Given the description of an element on the screen output the (x, y) to click on. 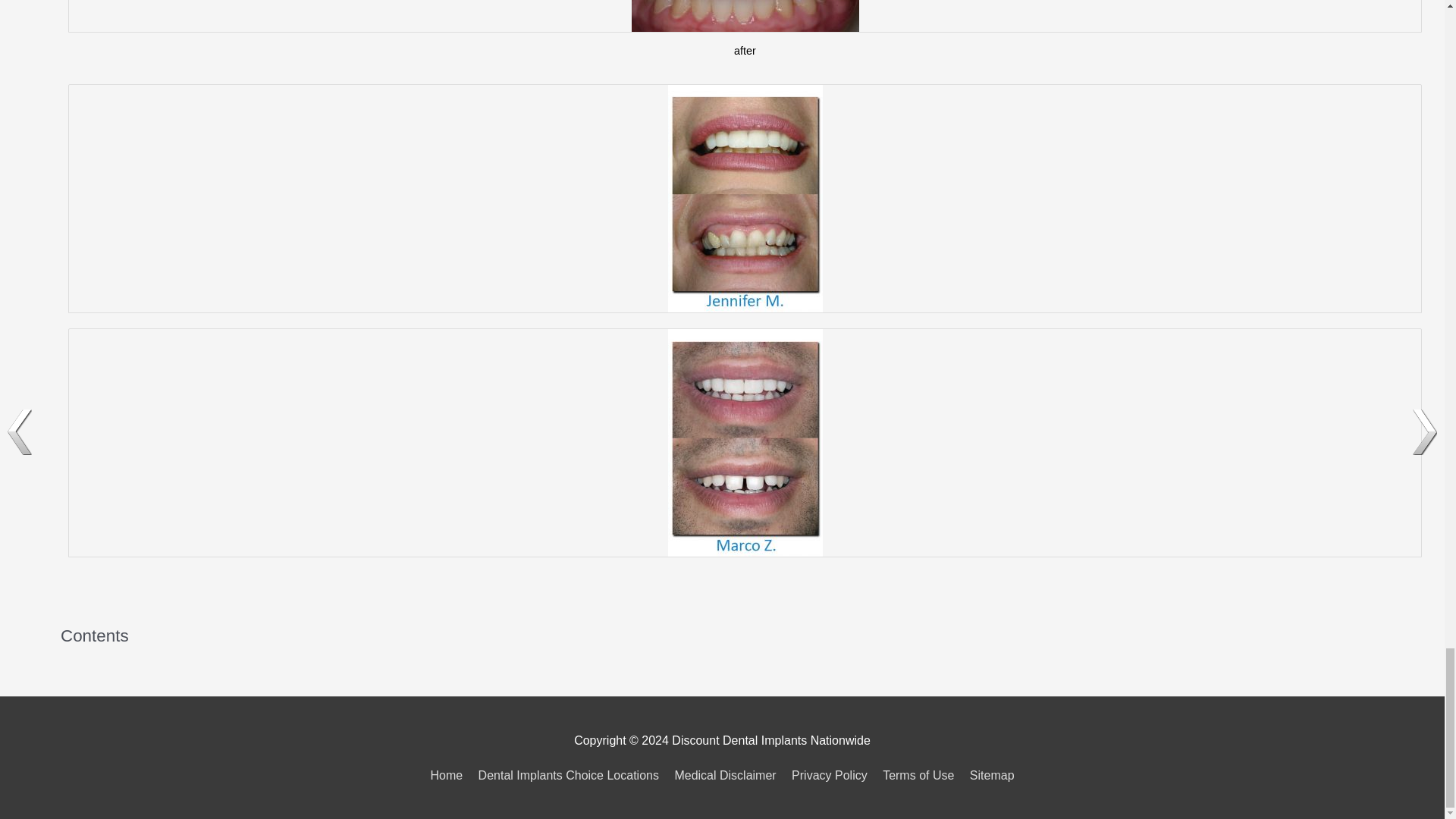
Privacy Policy (829, 775)
Medical Disclaimer (724, 775)
Sitemap (988, 775)
Home (448, 775)
Dental Implants Choice Locations (568, 775)
Terms of Use (917, 775)
